Given the description of an element on the screen output the (x, y) to click on. 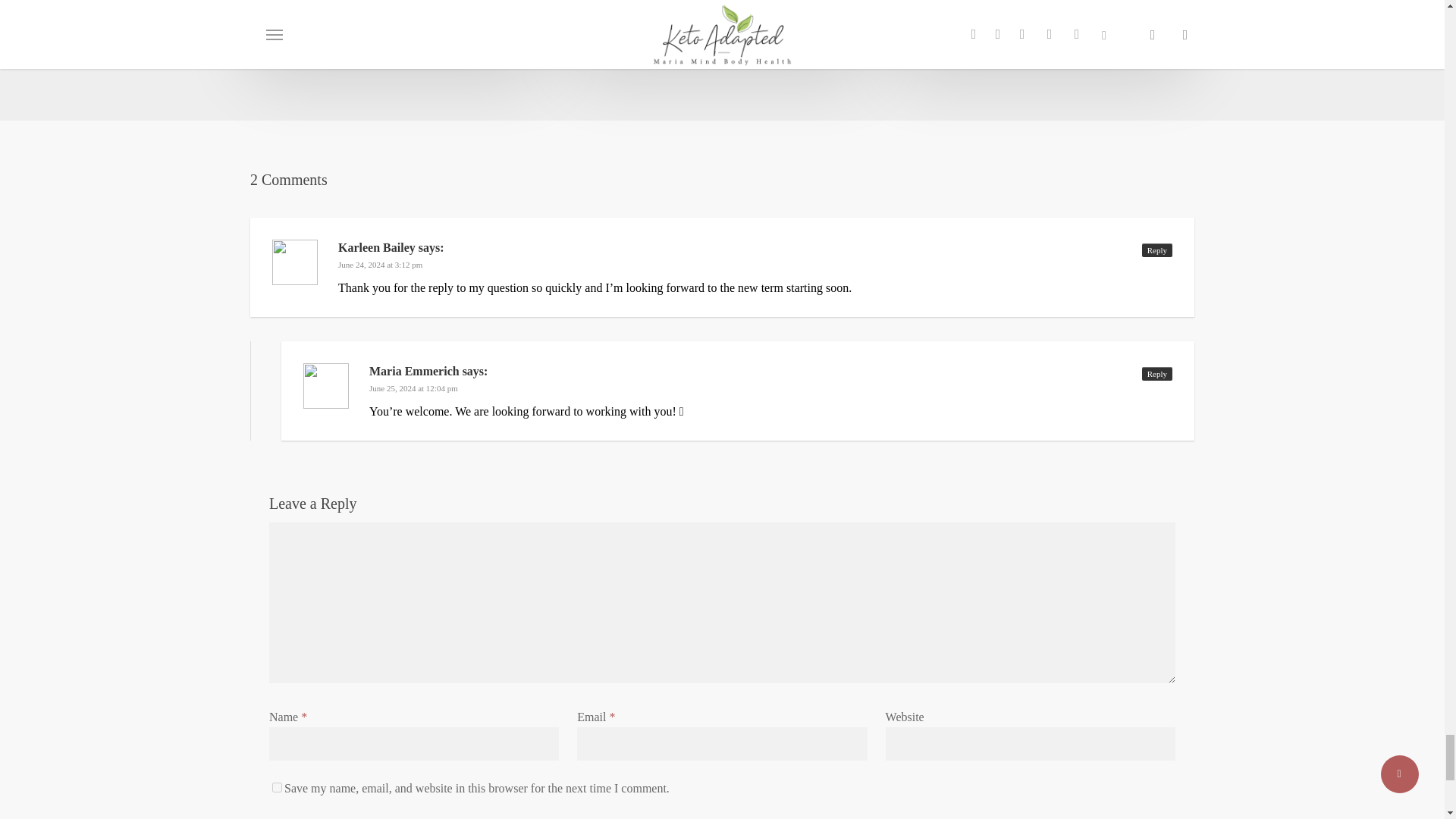
yes (277, 787)
